Given the description of an element on the screen output the (x, y) to click on. 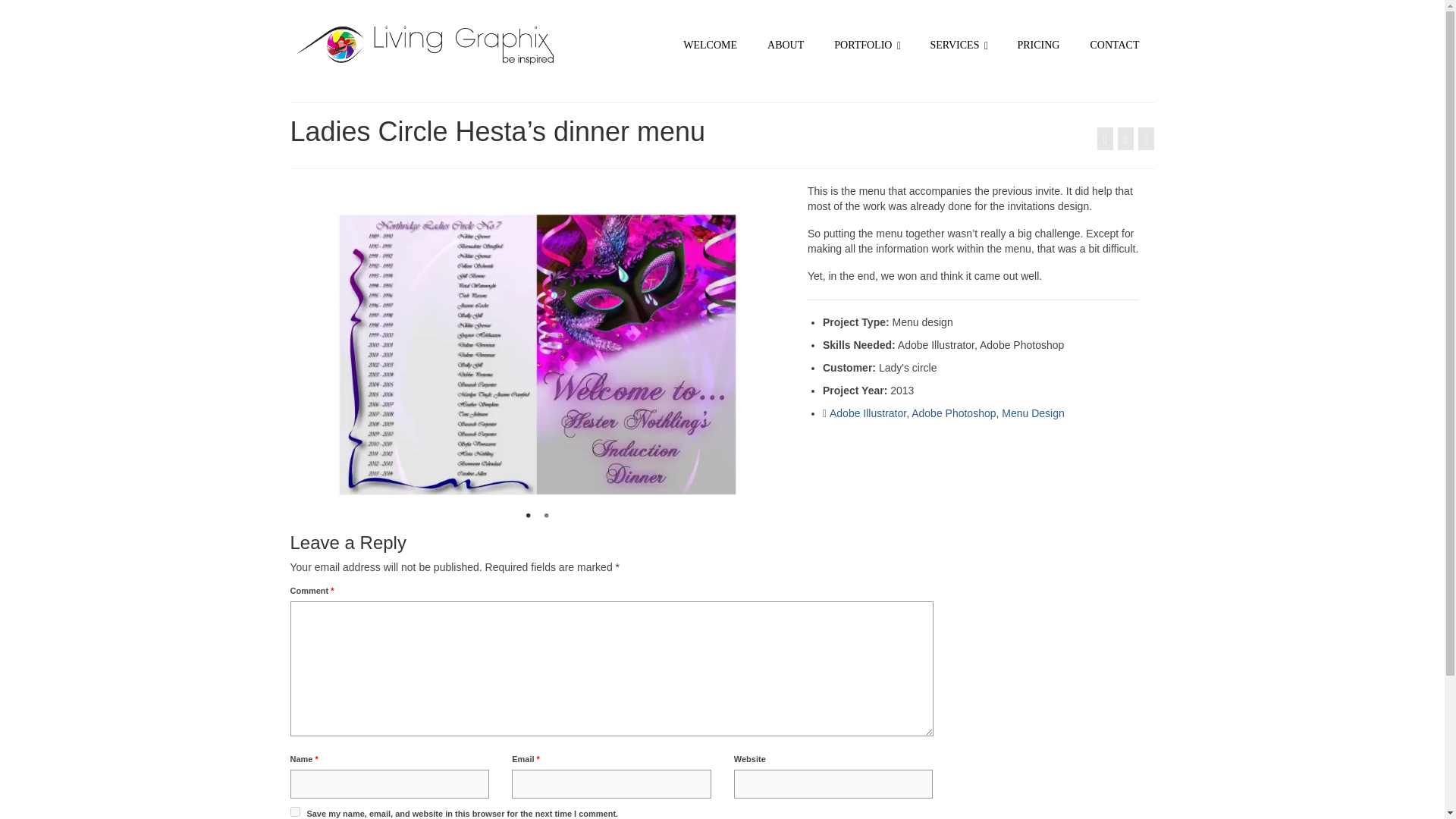
WELCOME (710, 45)
PORTFOLIO (866, 45)
Living Graphix (425, 45)
yes (294, 811)
SERVICES (957, 45)
